Given the description of an element on the screen output the (x, y) to click on. 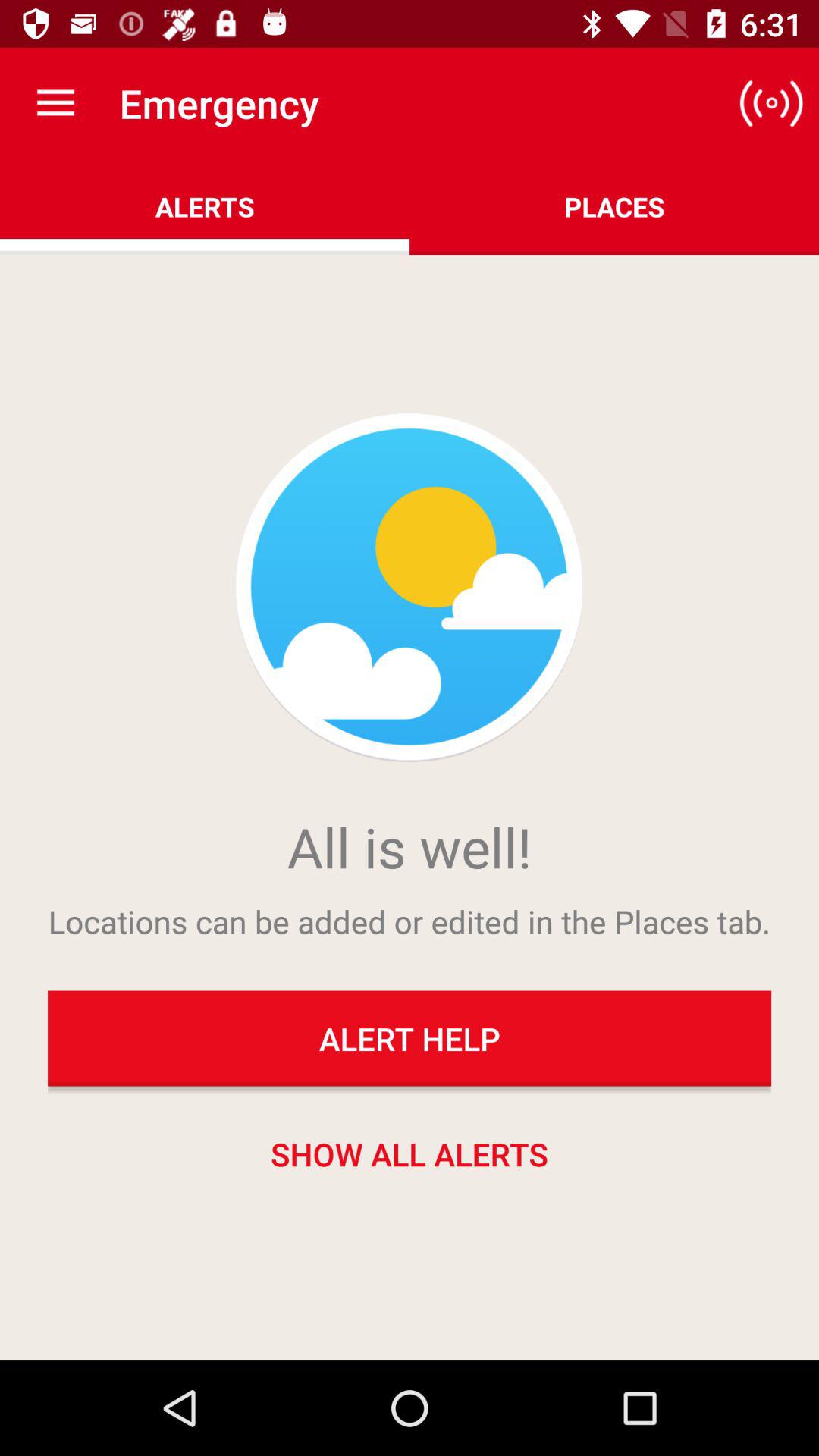
turn on item above places icon (771, 103)
